Given the description of an element on the screen output the (x, y) to click on. 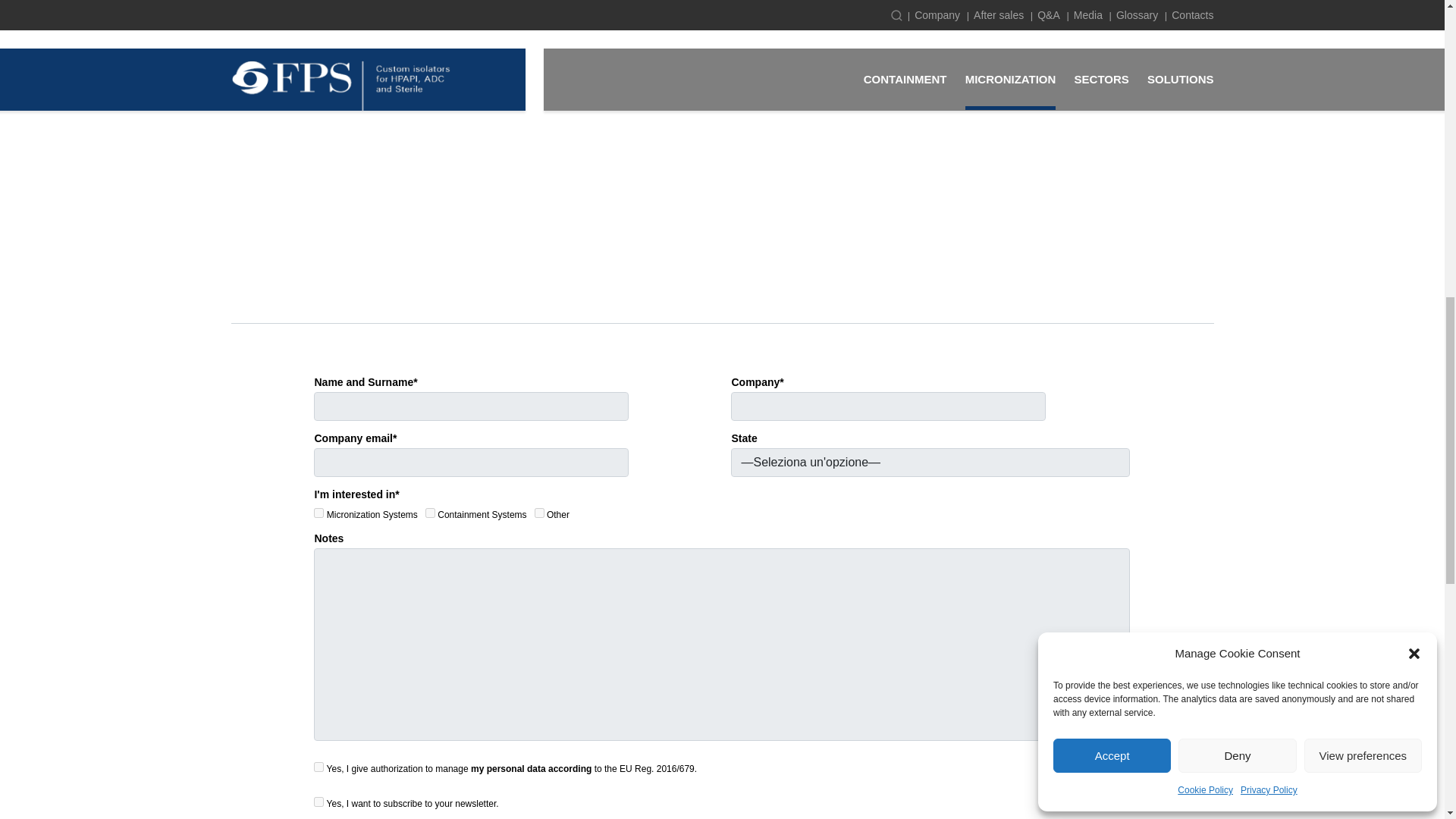
Yes (318, 801)
1 (318, 767)
Containment Systems (430, 512)
Micronization Systems (318, 512)
Other (539, 512)
